Given the description of an element on the screen output the (x, y) to click on. 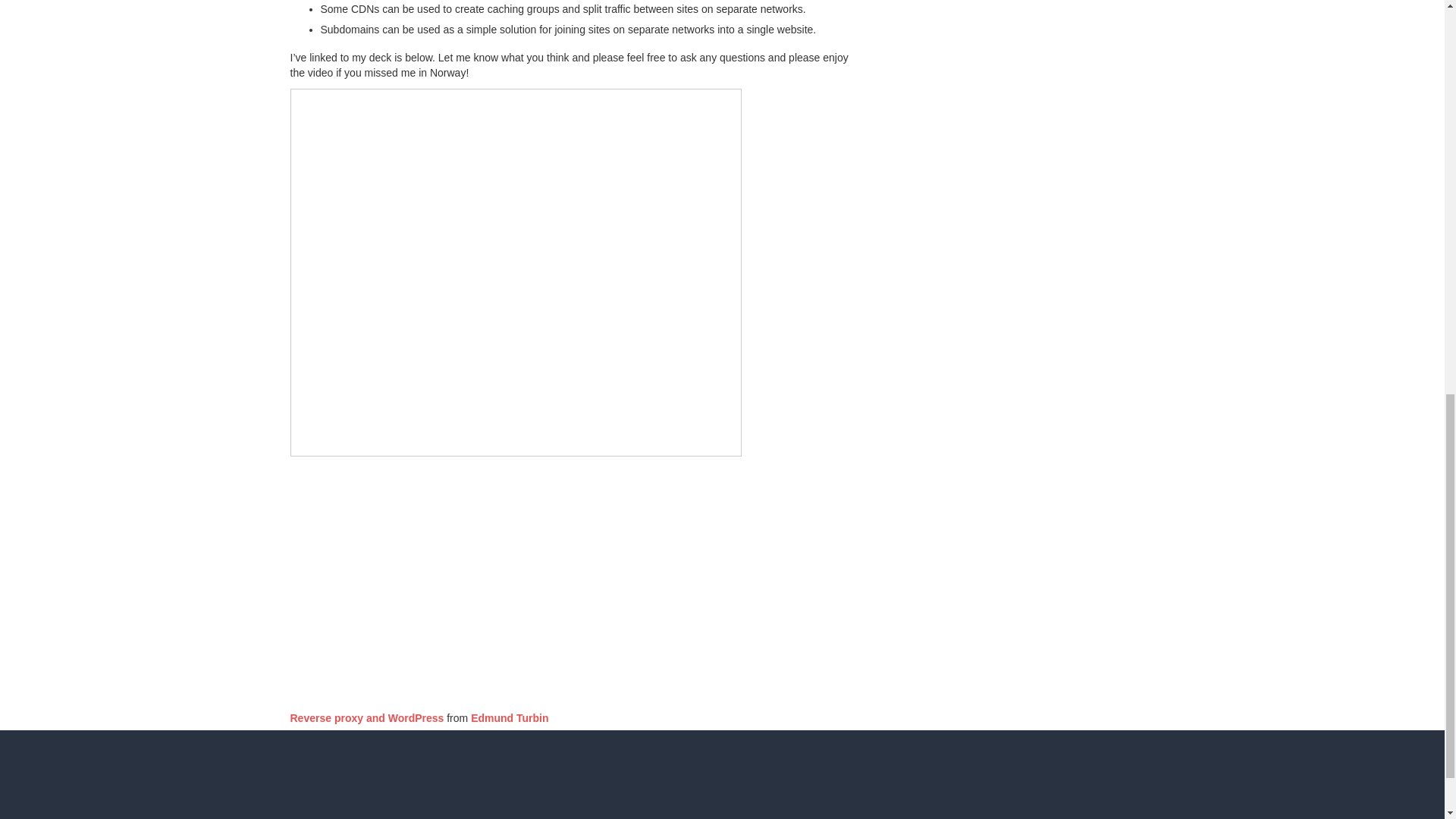
Reverse proxy and WordPress (366, 717)
Edmund Turbin (509, 717)
Reverse proxy and WordPress (366, 717)
WordPress and Reverse Proxy (478, 578)
